Given the description of an element on the screen output the (x, y) to click on. 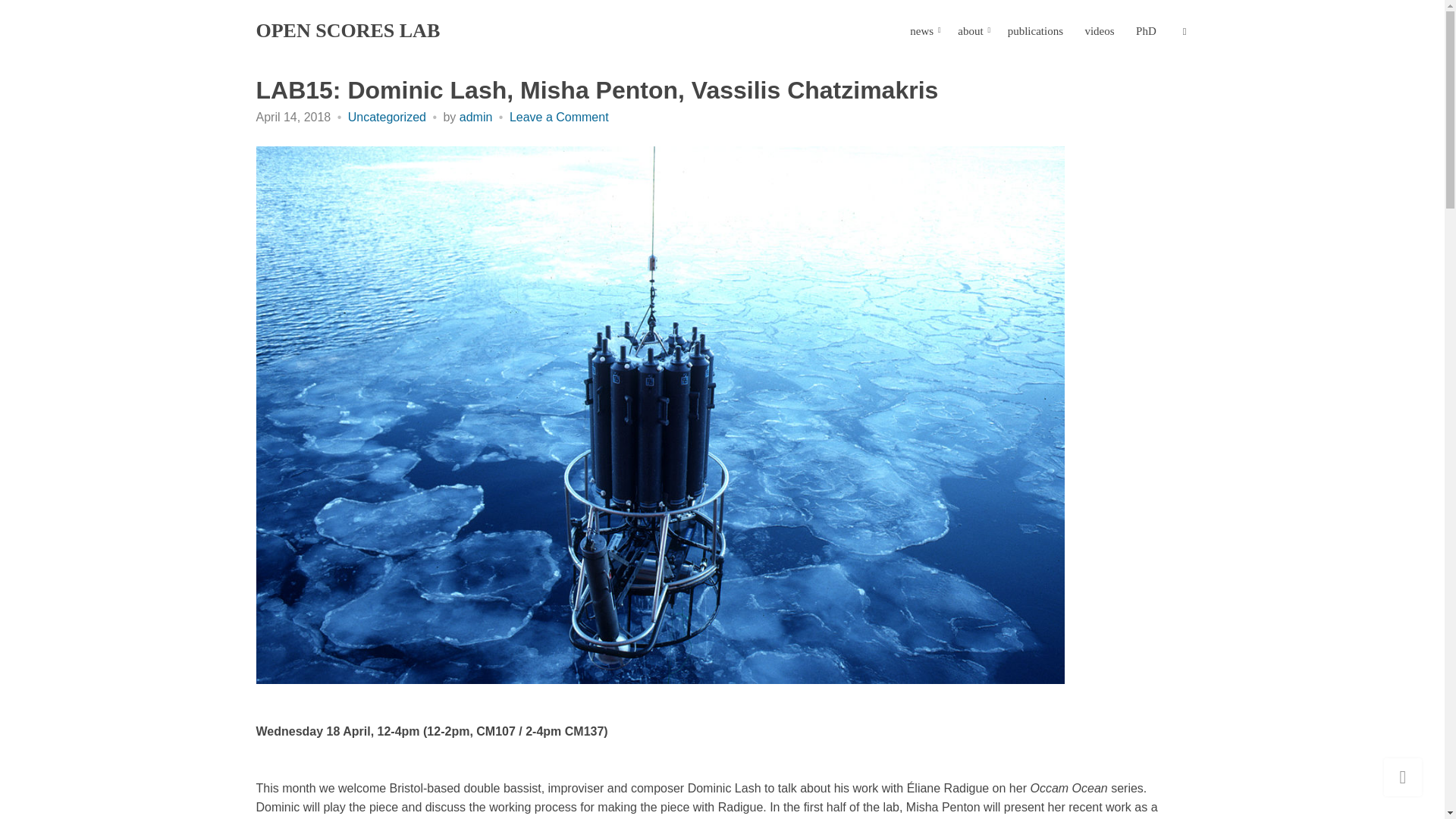
Uncategorized (386, 116)
admin (476, 116)
publications (1034, 30)
about (971, 30)
OPEN SCORES LAB (348, 30)
news (923, 30)
videos (1098, 30)
